Given the description of an element on the screen output the (x, y) to click on. 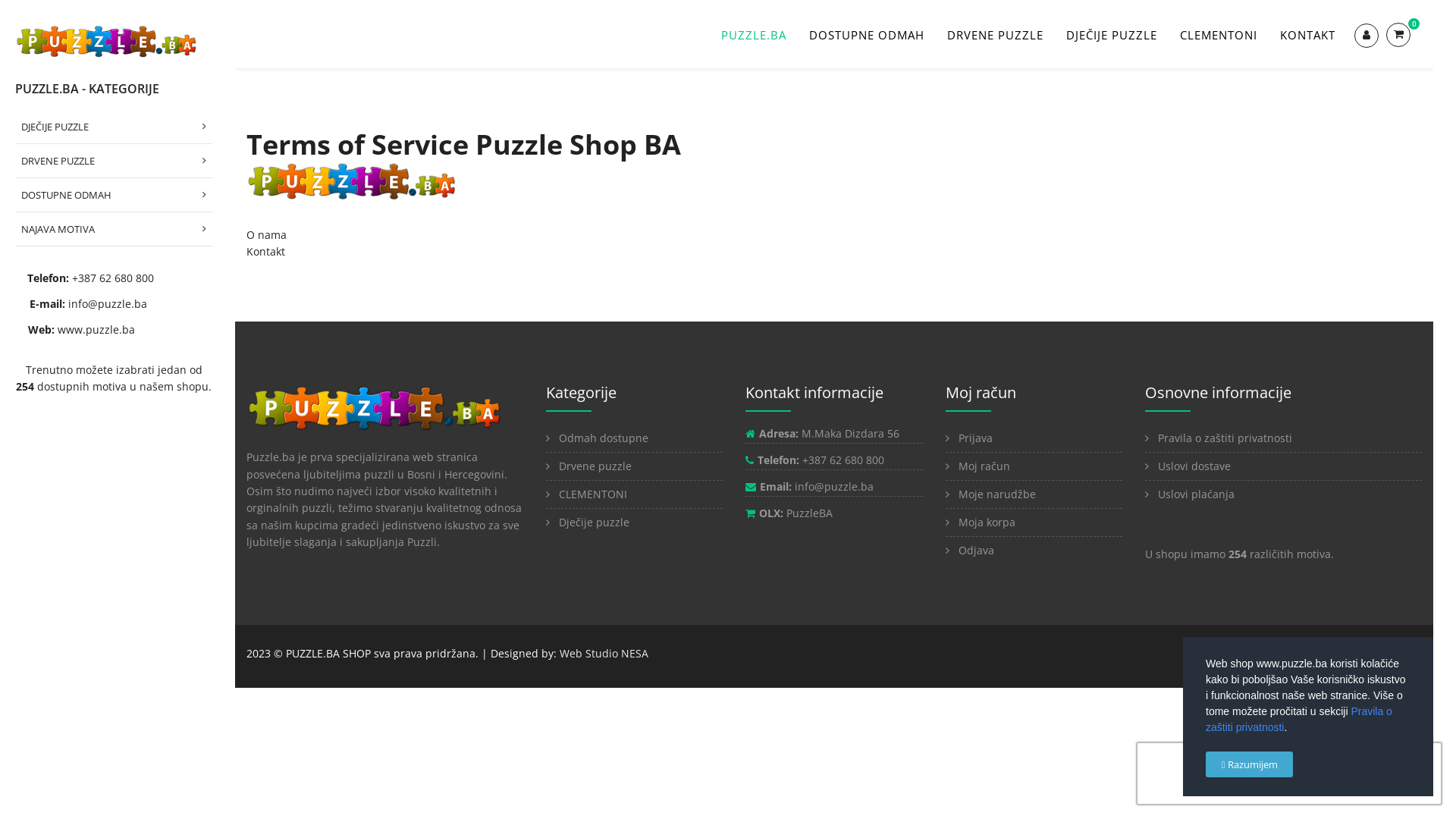
Odjava Element type: text (1033, 550)
Uslovi dostave Element type: text (1283, 466)
NAJAVA MOTIVA Element type: text (113, 229)
DOSTUPNE ODMAH Element type: text (866, 34)
0 Element type: text (1403, 34)
DOSTUPNE ODMAH Element type: text (113, 195)
CLEMENTONI Element type: text (1218, 34)
PUZZLE.BA Element type: text (753, 34)
Razumijem Element type: text (1248, 764)
Odmah dostupne Element type: text (634, 437)
Drvene puzzle Element type: text (634, 466)
DRVENE PUZZLE Element type: text (994, 34)
Moja korpa Element type: text (1033, 522)
CLEMENTONI Element type: text (634, 494)
DRVENE PUZZLE Element type: text (113, 161)
Prijava Element type: text (1033, 437)
KONTAKT Element type: text (1307, 34)
Web Studio NESA Element type: text (603, 653)
O nama Element type: text (266, 234)
Kontakt Element type: text (265, 251)
